Given the description of an element on the screen output the (x, y) to click on. 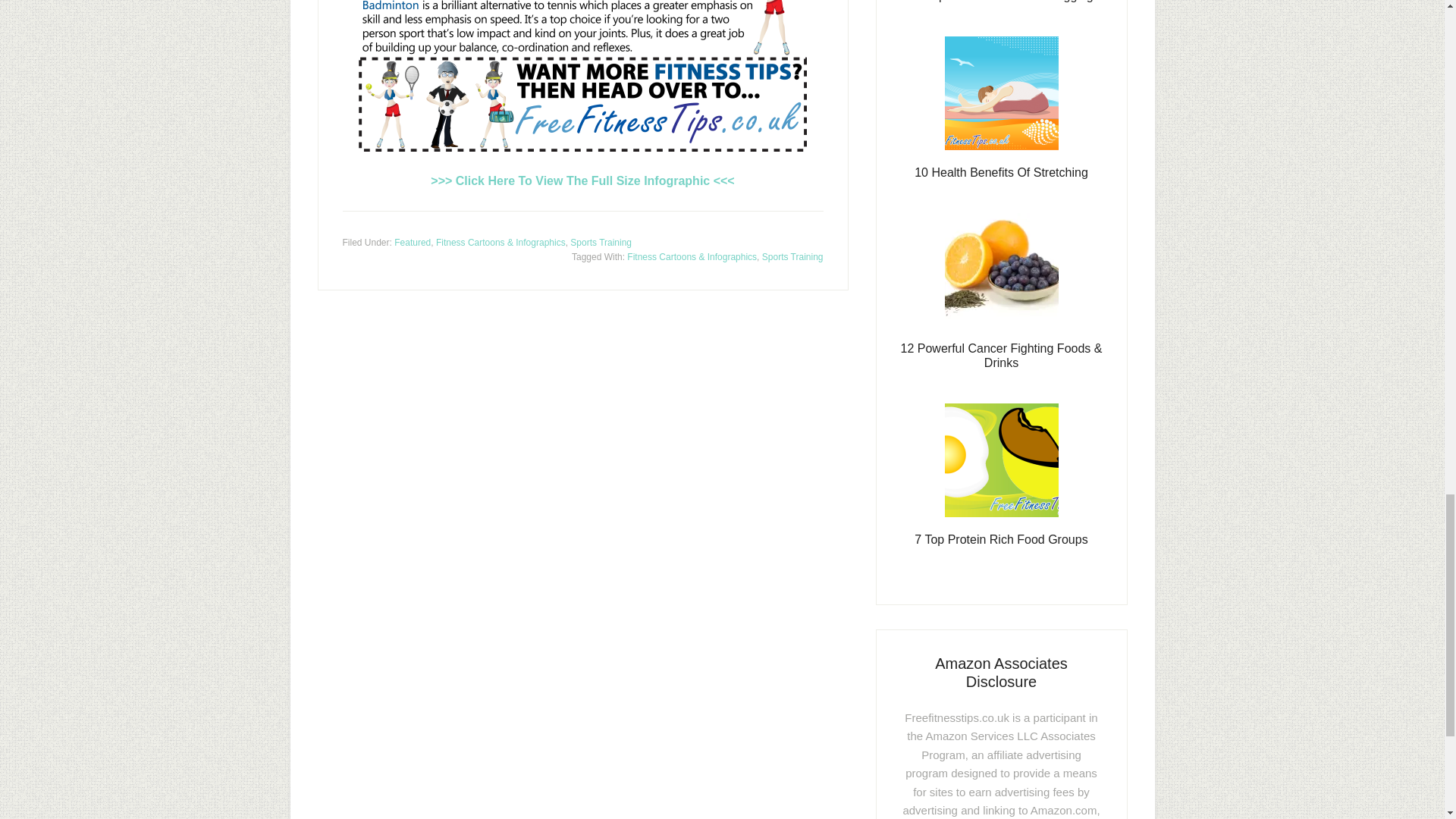
Sports Training (792, 256)
Featured (412, 241)
10 Health Benefits Of Stretching (1000, 171)
Sports Training (600, 241)
12 Top Health Benefits Of Jogging (1000, 1)
